Given the description of an element on the screen output the (x, y) to click on. 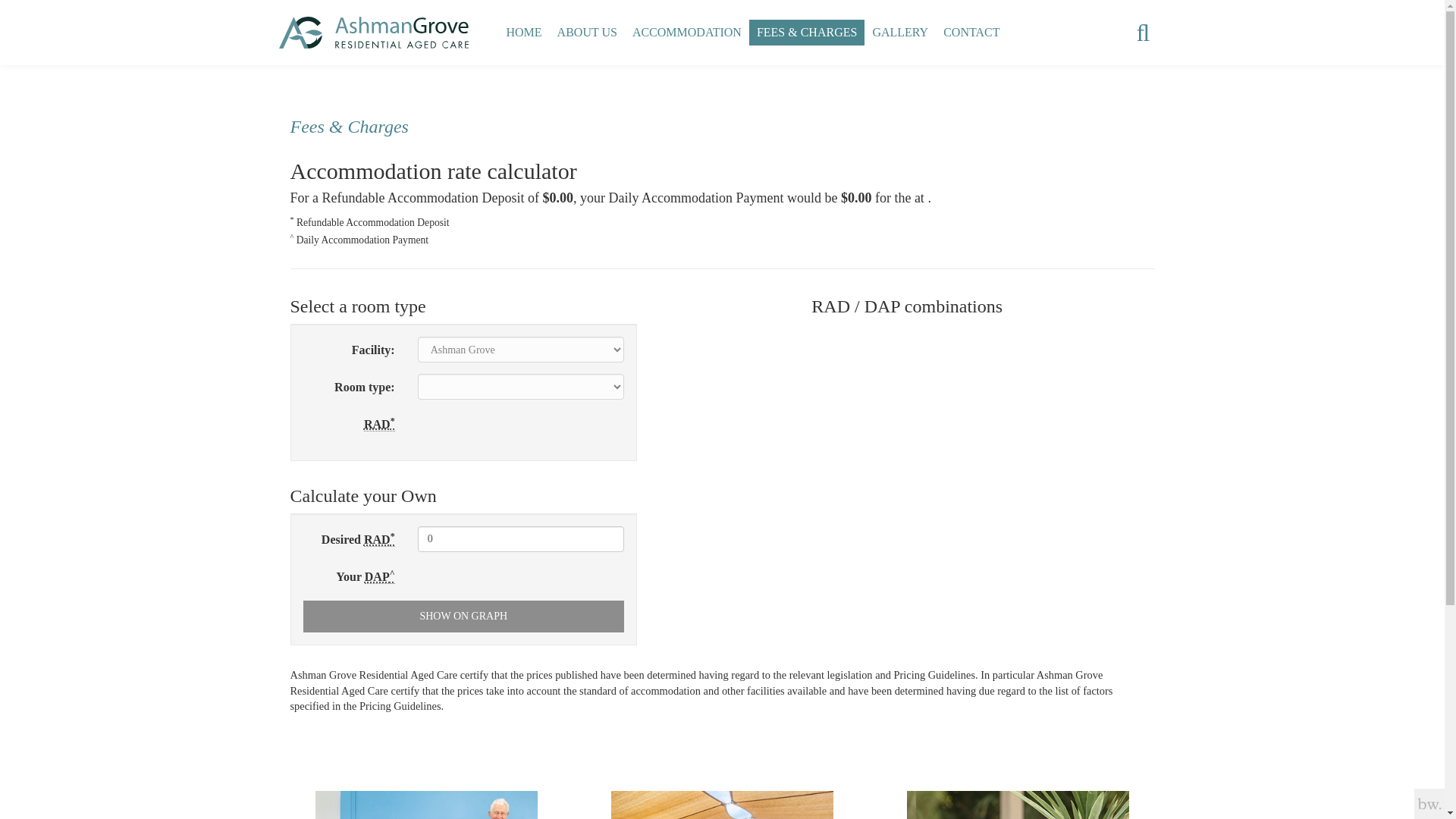
View our gallery (426, 804)
SHOW ON GRAPH (463, 616)
Contact (971, 32)
Refundable Accommodation Deposit (379, 540)
Refundable Accommodation Deposit (379, 424)
Gallery (900, 32)
Book a personal tour (722, 804)
CONTACT (971, 32)
Daily Accommodation Payment (379, 576)
HOME (524, 32)
Accommodation (686, 32)
Ashman Grove (524, 32)
Enquire about vacancies (1017, 804)
GALLERY (900, 32)
ABOUT US (587, 32)
